Given the description of an element on the screen output the (x, y) to click on. 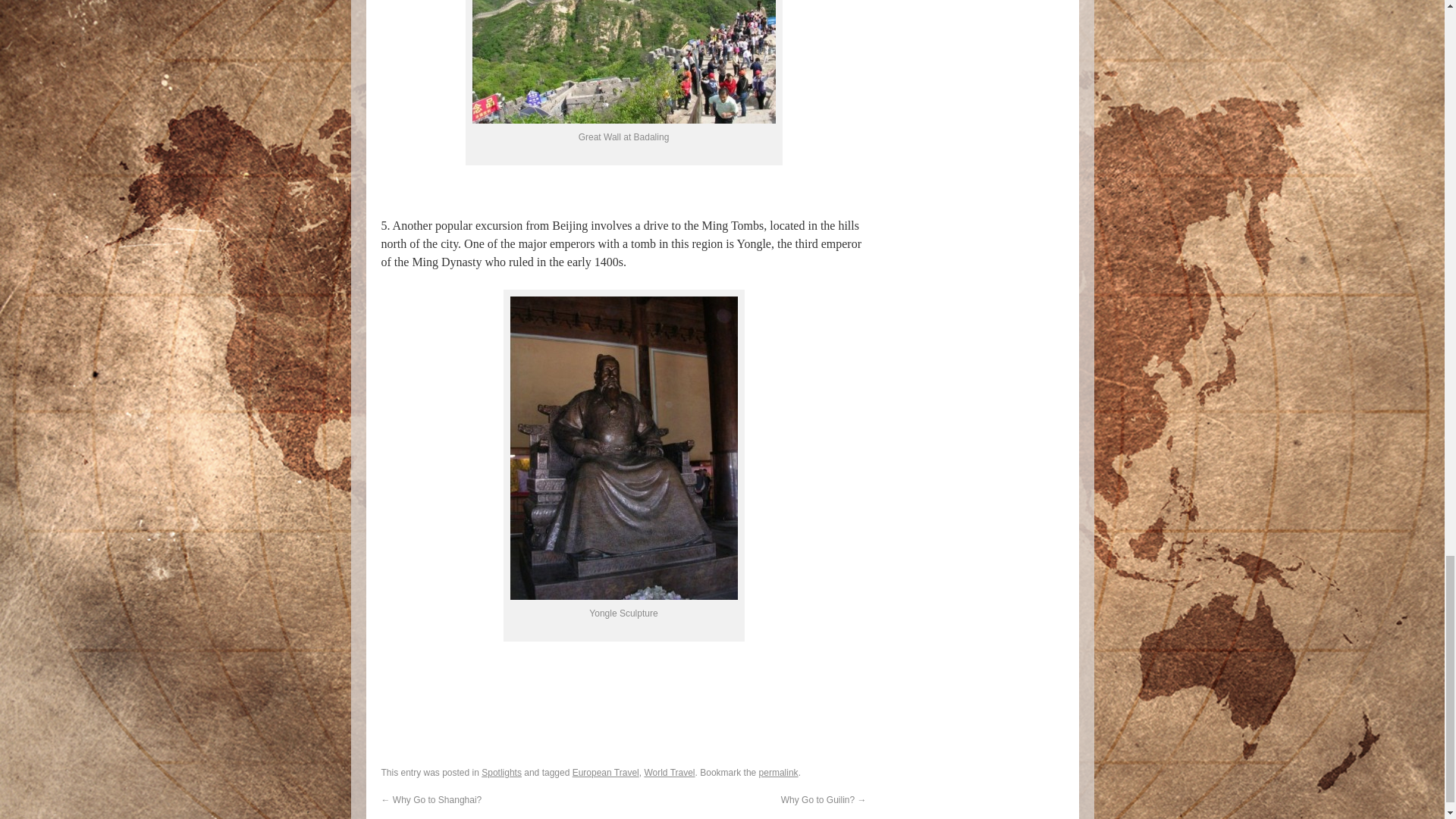
Spotlights (501, 772)
World Travel (668, 772)
permalink (777, 772)
Permalink to Why Go to Beijing? (777, 772)
European Travel (605, 772)
